Given the description of an element on the screen output the (x, y) to click on. 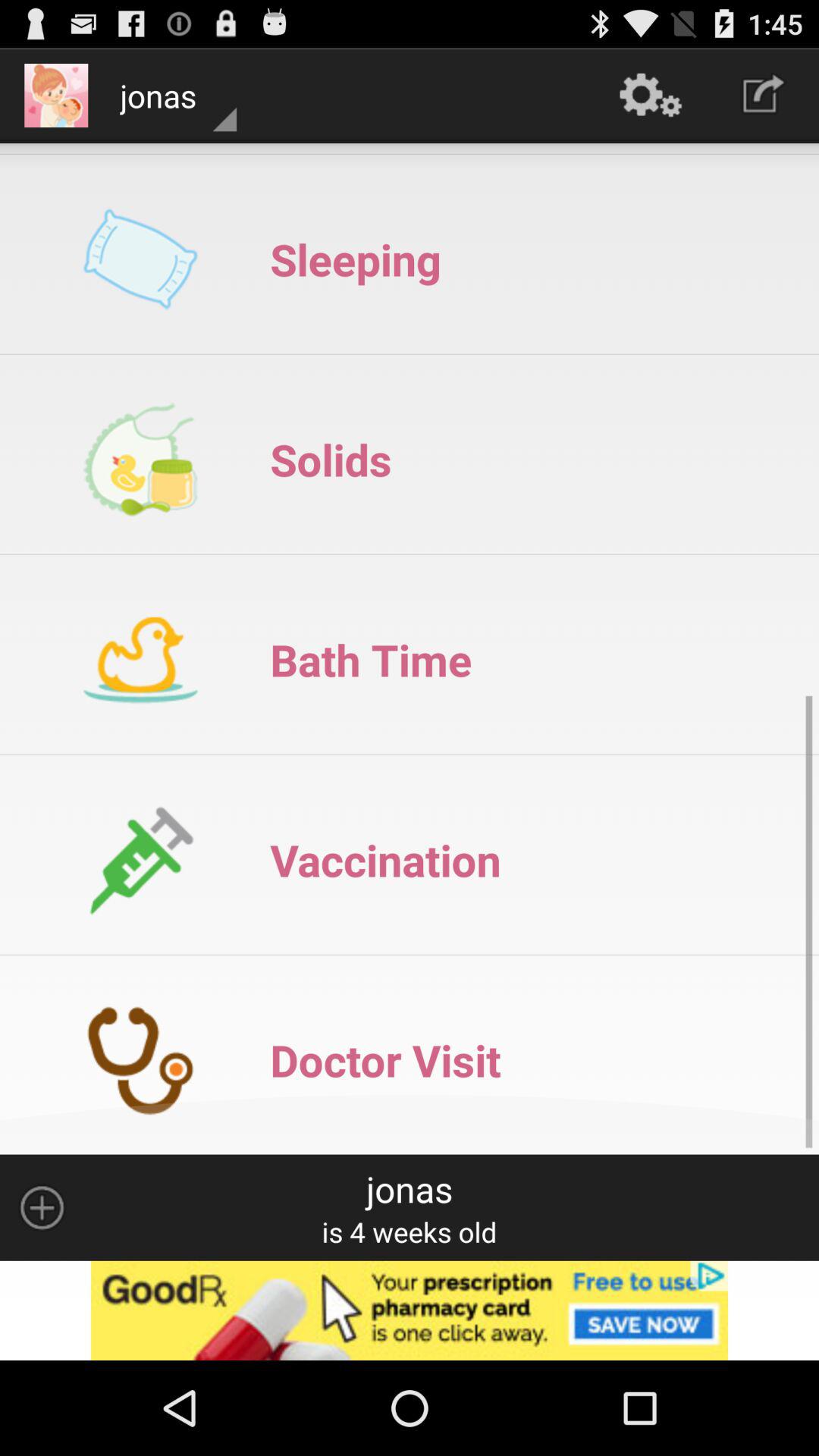
click to add information (41, 1207)
